Given the description of an element on the screen output the (x, y) to click on. 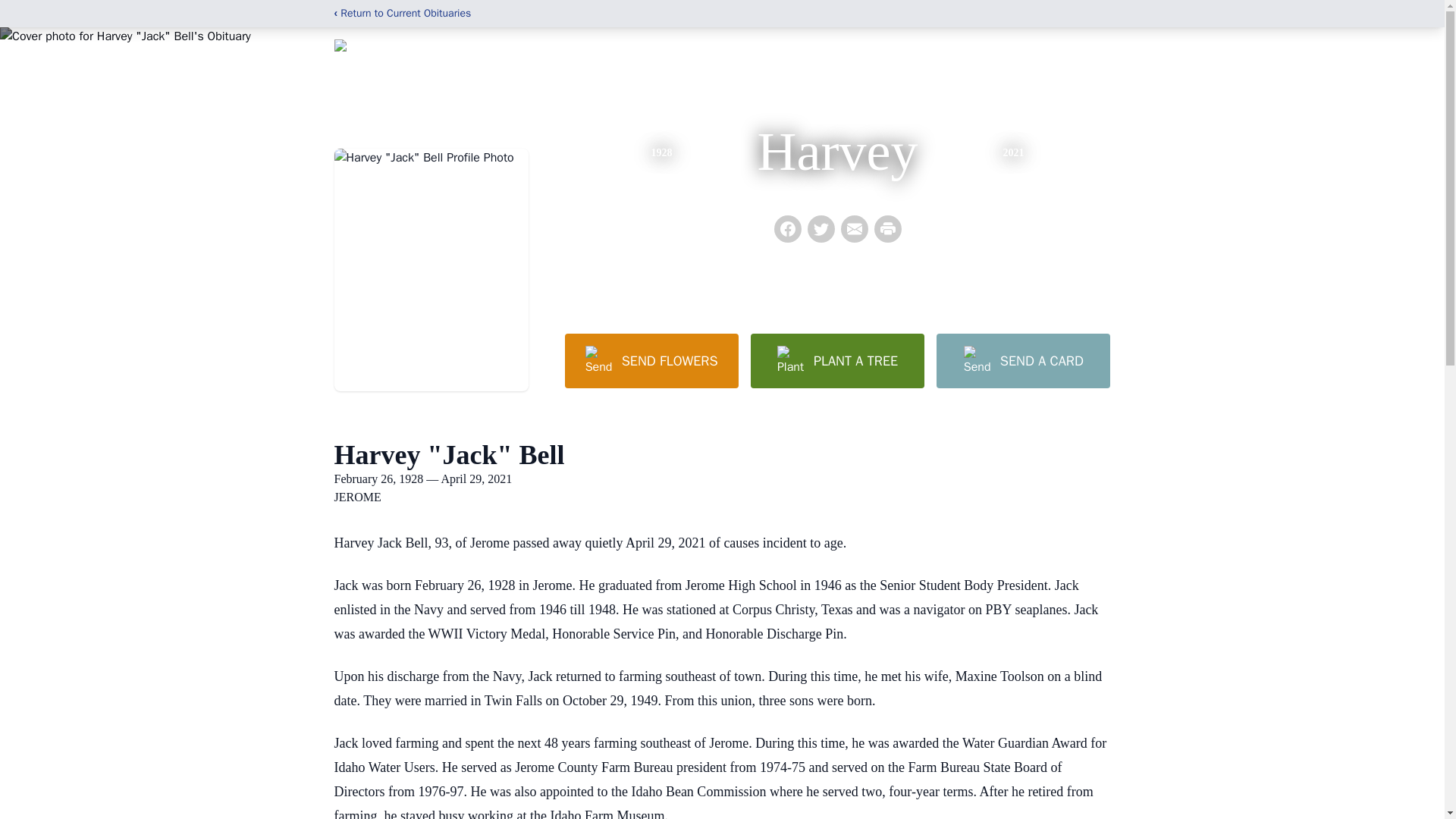
SEND A CARD (1022, 360)
SEND FLOWERS (651, 360)
PLANT A TREE (837, 360)
